Given the description of an element on the screen output the (x, y) to click on. 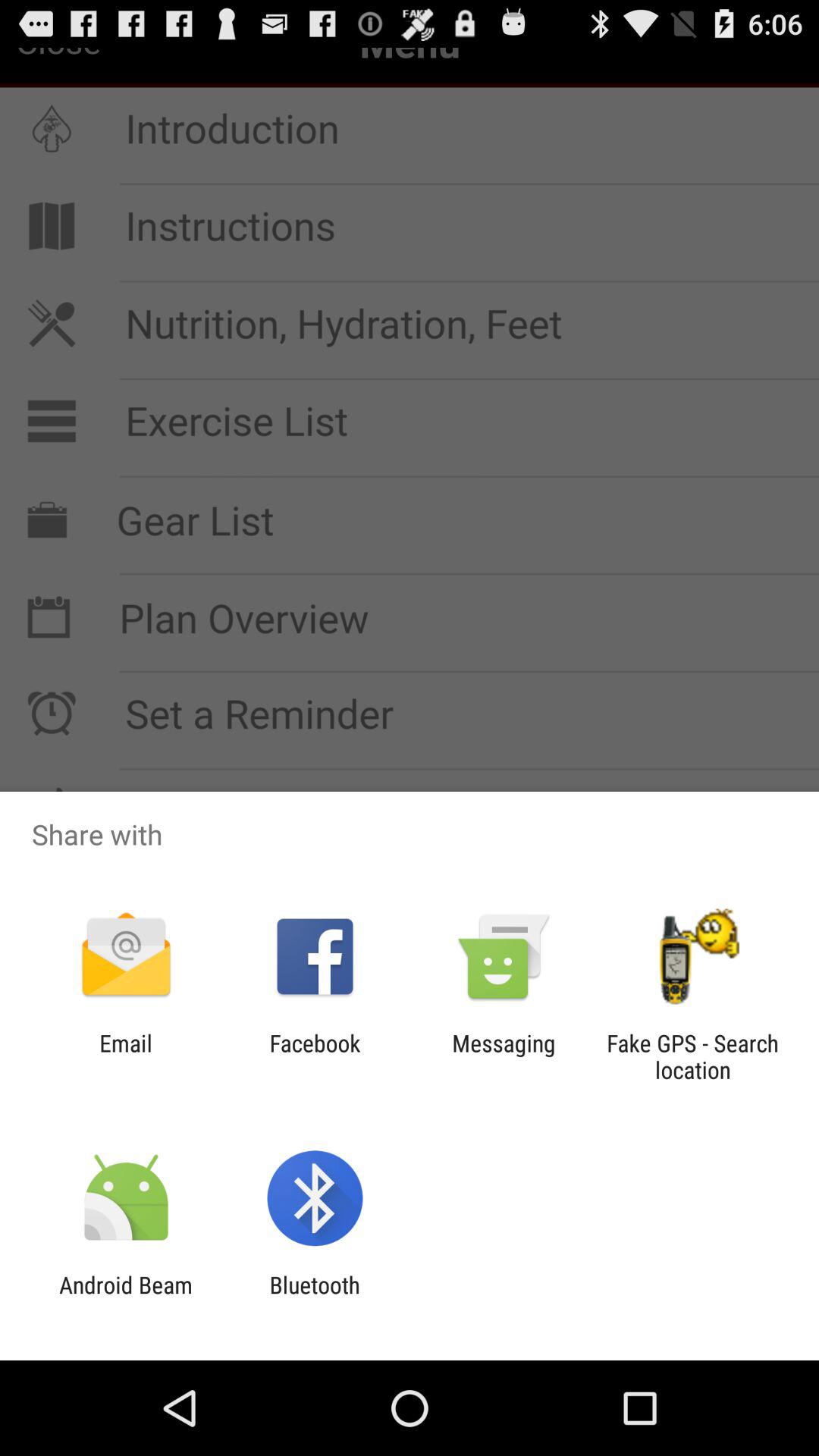
turn on app to the left of the fake gps search icon (503, 1056)
